Given the description of an element on the screen output the (x, y) to click on. 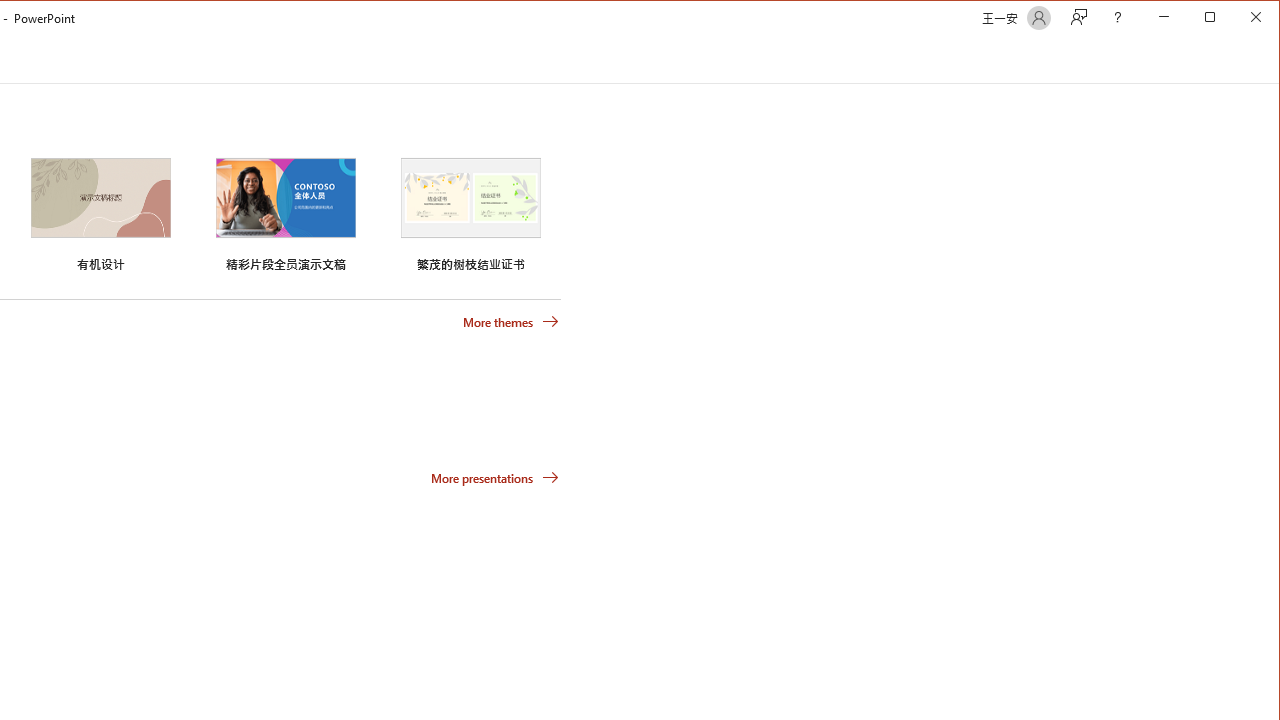
More themes (510, 321)
Class: NetUIScrollBar (1270, 60)
More presentations (494, 478)
